Given the description of an element on the screen output the (x, y) to click on. 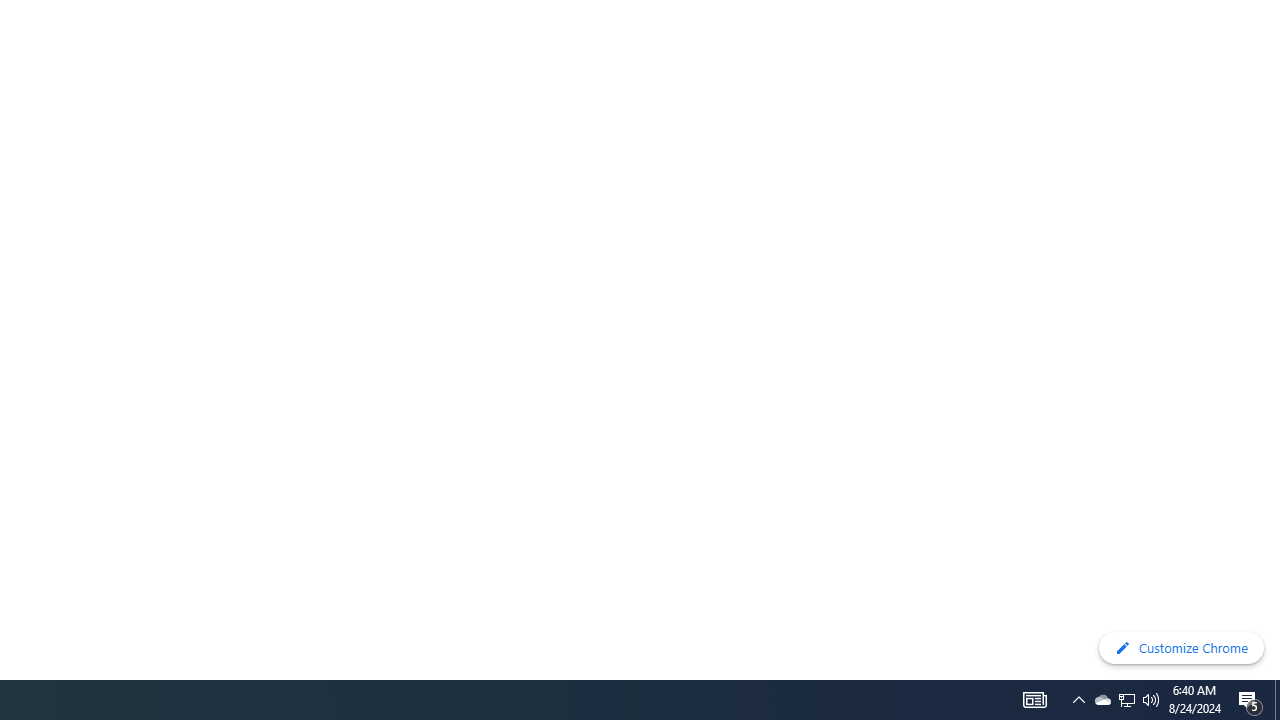
Customize Chrome (1181, 647)
